Given the description of an element on the screen output the (x, y) to click on. 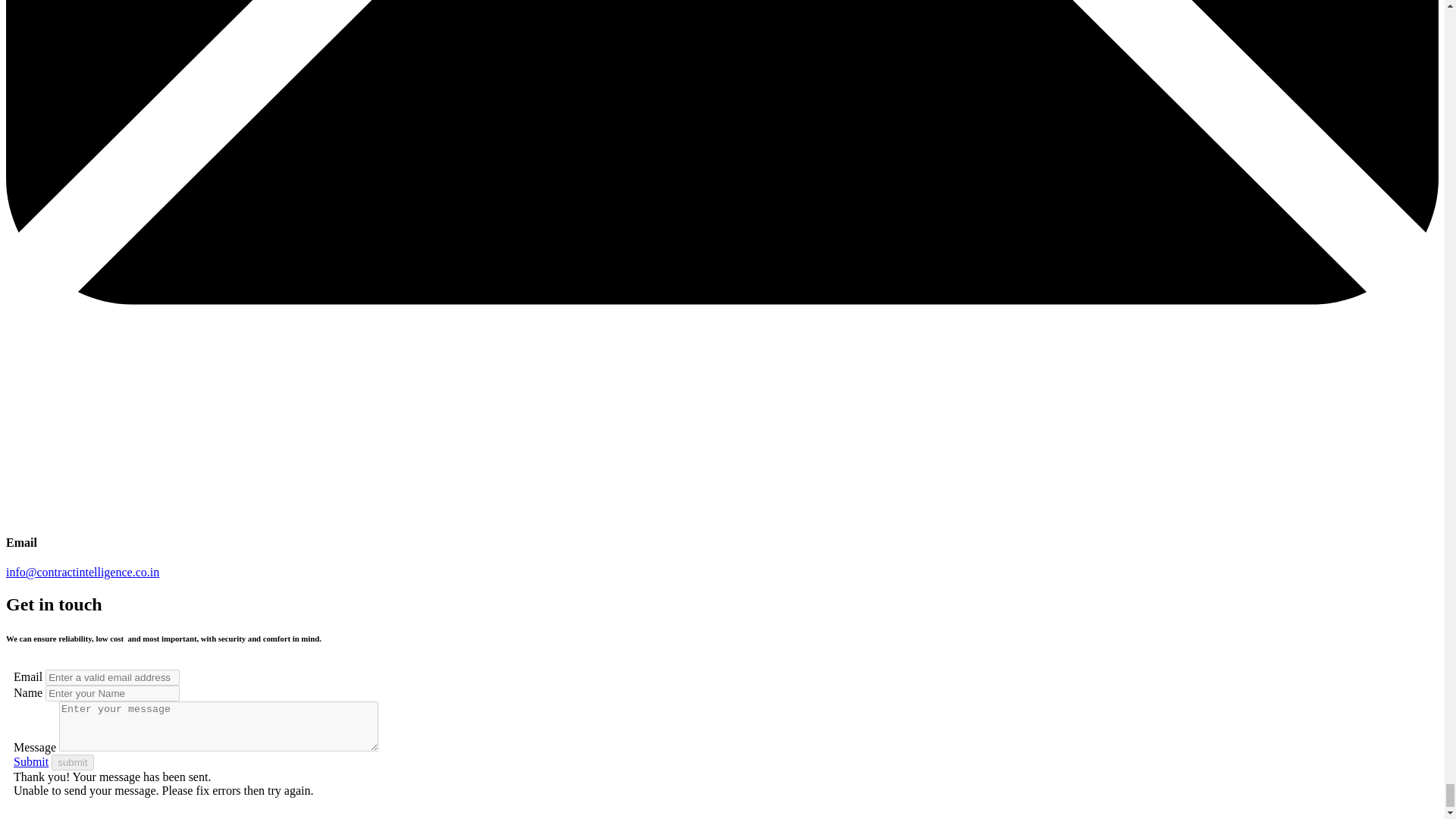
submit (71, 762)
Submit (30, 761)
submit (71, 762)
